Given the description of an element on the screen output the (x, y) to click on. 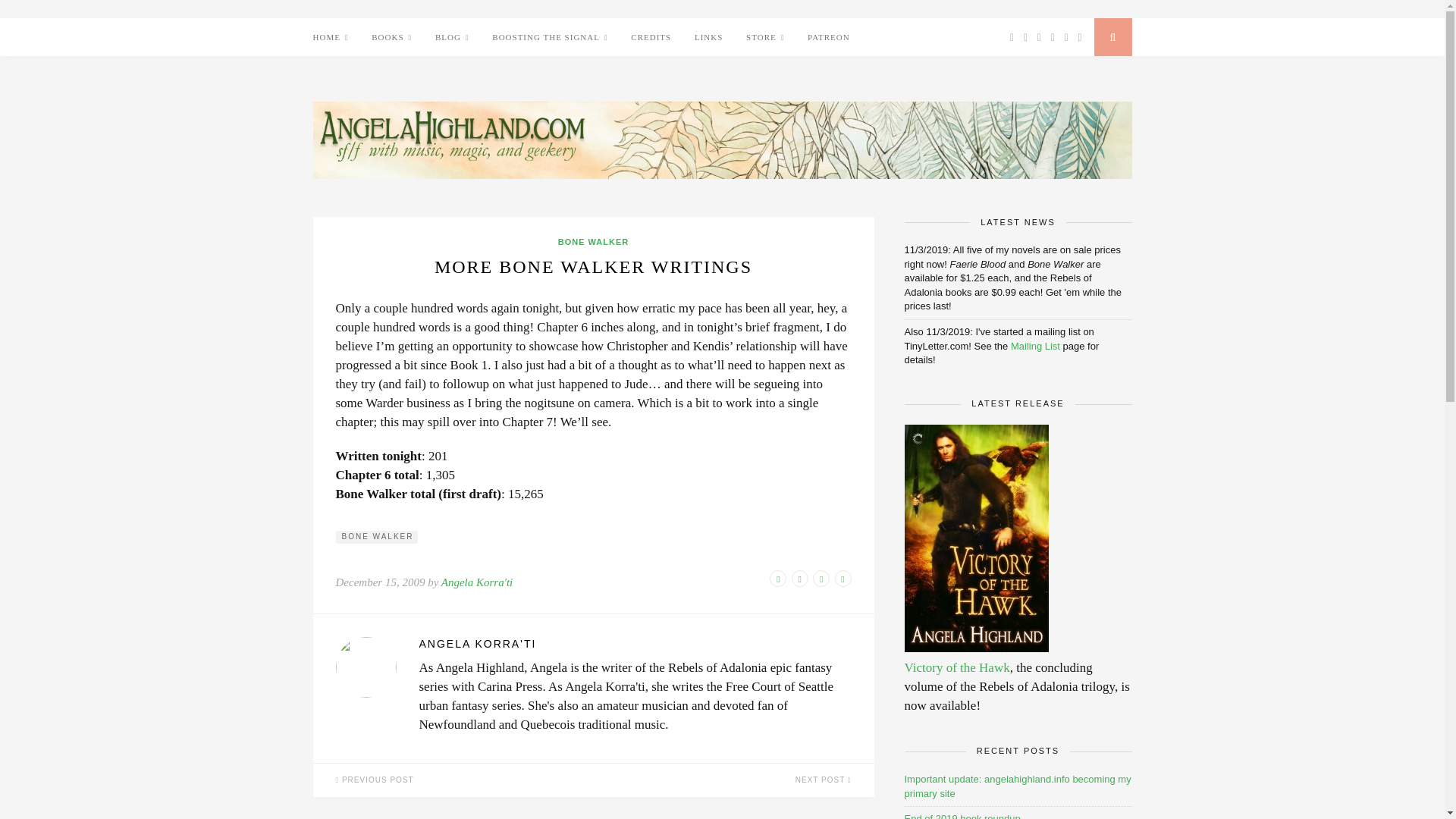
CREDITS (650, 37)
Posts by Angela Korra'ti (634, 644)
STORE (764, 37)
PATREON (829, 37)
BOOKS (391, 37)
HOME (330, 37)
Posts by Angela Korra'ti (476, 582)
BOOSTING THE SIGNAL (549, 37)
